Given the description of an element on the screen output the (x, y) to click on. 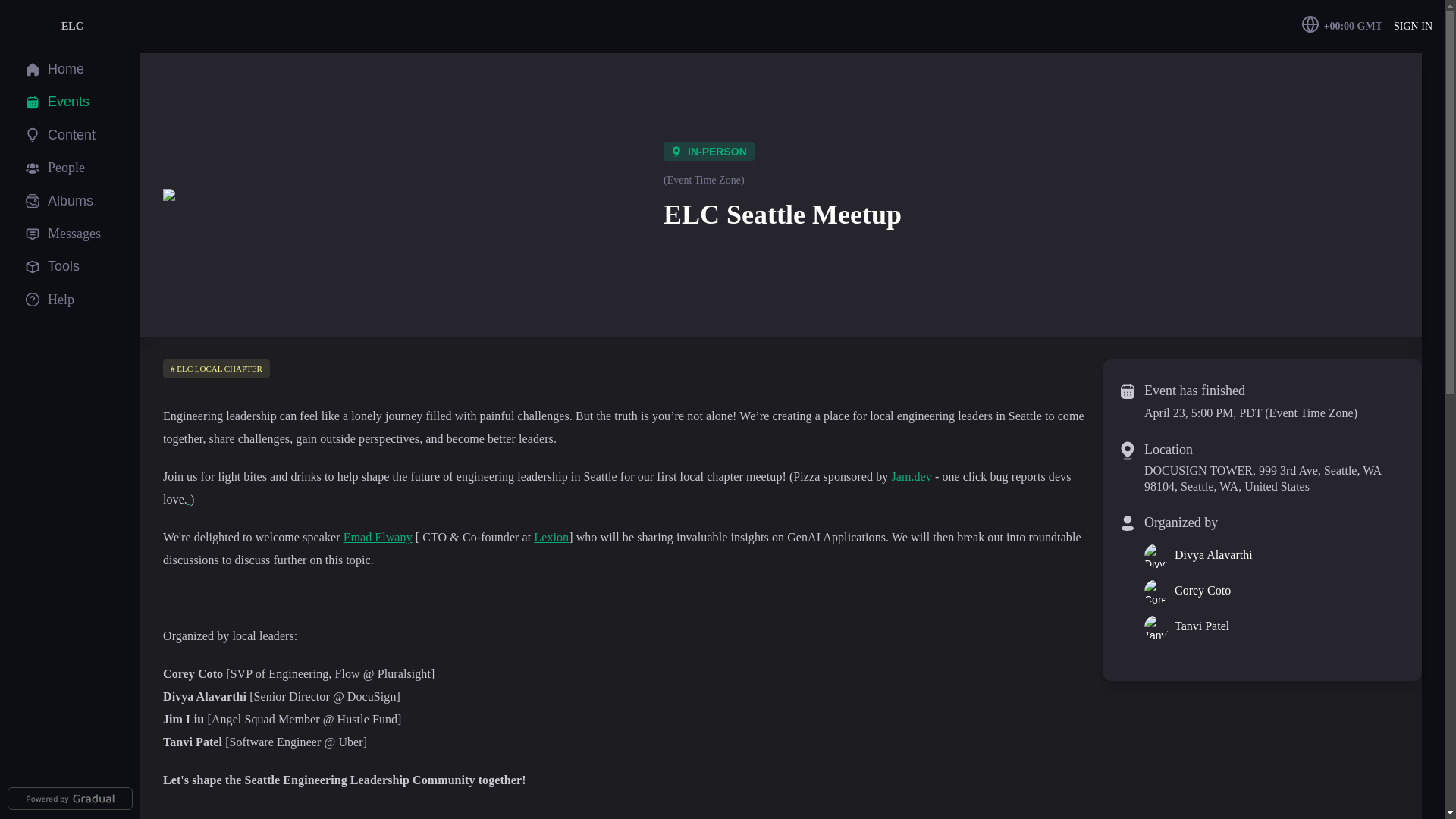
Jam.dev (911, 476)
Content (74, 135)
Events (71, 101)
Albums (72, 200)
Tools (66, 266)
Home (68, 68)
Emad Elwany (377, 536)
Lexion (551, 536)
